Given the description of an element on the screen output the (x, y) to click on. 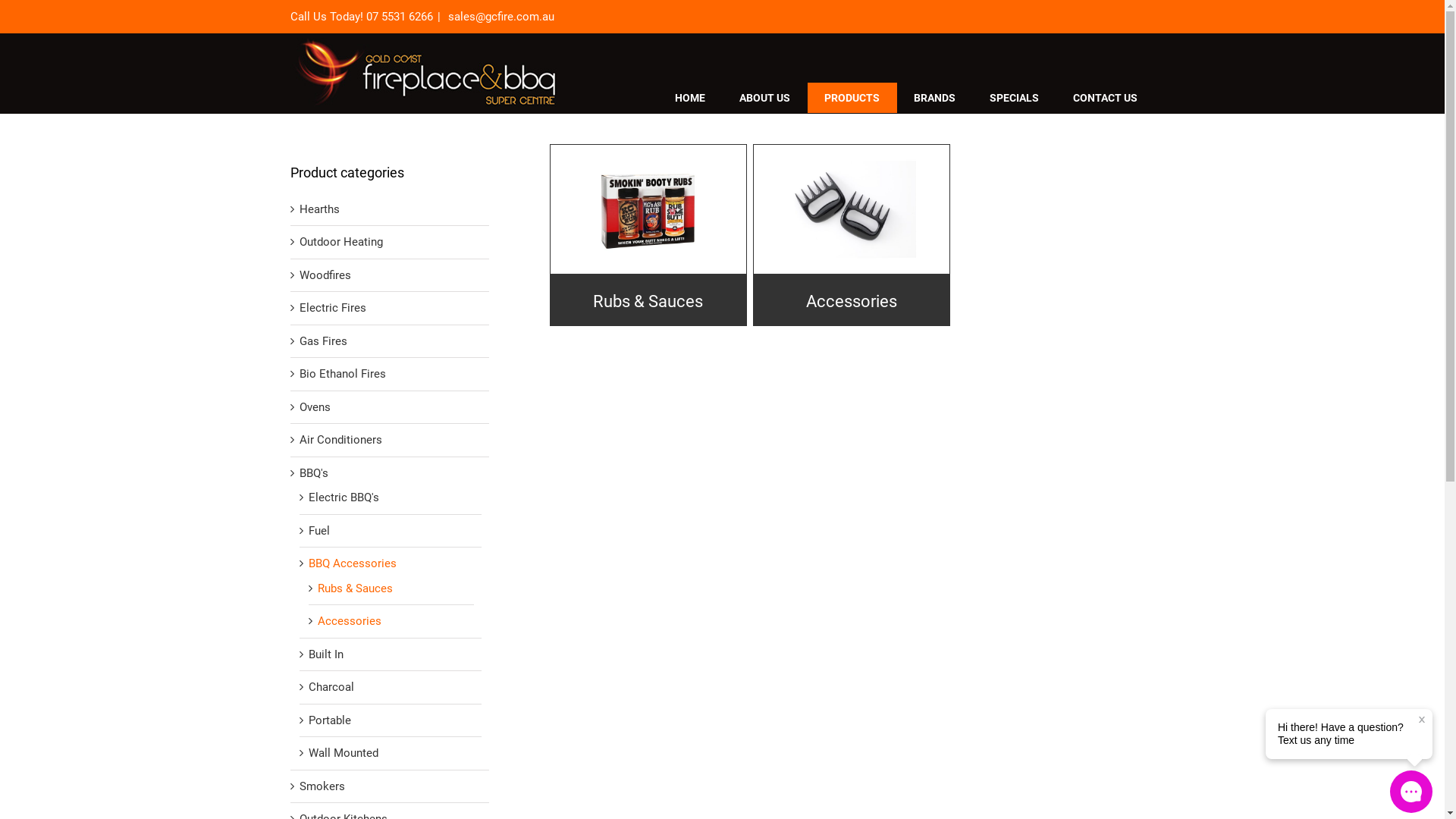
Charcoal Element type: text (330, 687)
Smokers Element type: text (321, 786)
Gas Fires Element type: text (322, 341)
Woodfires Element type: text (324, 275)
Electric Fires Element type: text (331, 307)
Built In Element type: text (324, 654)
Accessories Element type: text (348, 621)
CONTACT US Element type: text (1104, 97)
Air Conditioners Element type: text (339, 439)
Bio Ethanol Fires Element type: text (341, 373)
Hearths Element type: text (318, 209)
BBQ Accessories Element type: text (351, 563)
Accessories Element type: text (851, 235)
Fuel Element type: text (318, 530)
Electric BBQ's Element type: text (342, 497)
Ovens Element type: text (313, 407)
Wall Mounted Element type: text (342, 753)
Portable Element type: text (328, 720)
Rubs & Sauces Element type: text (648, 235)
HOME Element type: text (690, 97)
BRANDS Element type: text (934, 97)
Rubs & Sauces Element type: text (354, 588)
PRODUCTS Element type: text (851, 97)
Outdoor Heating Element type: text (340, 242)
ABOUT US Element type: text (763, 97)
sales@gcfire.com.au Element type: text (498, 16)
BBQ's Element type: text (312, 473)
SPECIALS Element type: text (1013, 97)
